Given the description of an element on the screen output the (x, y) to click on. 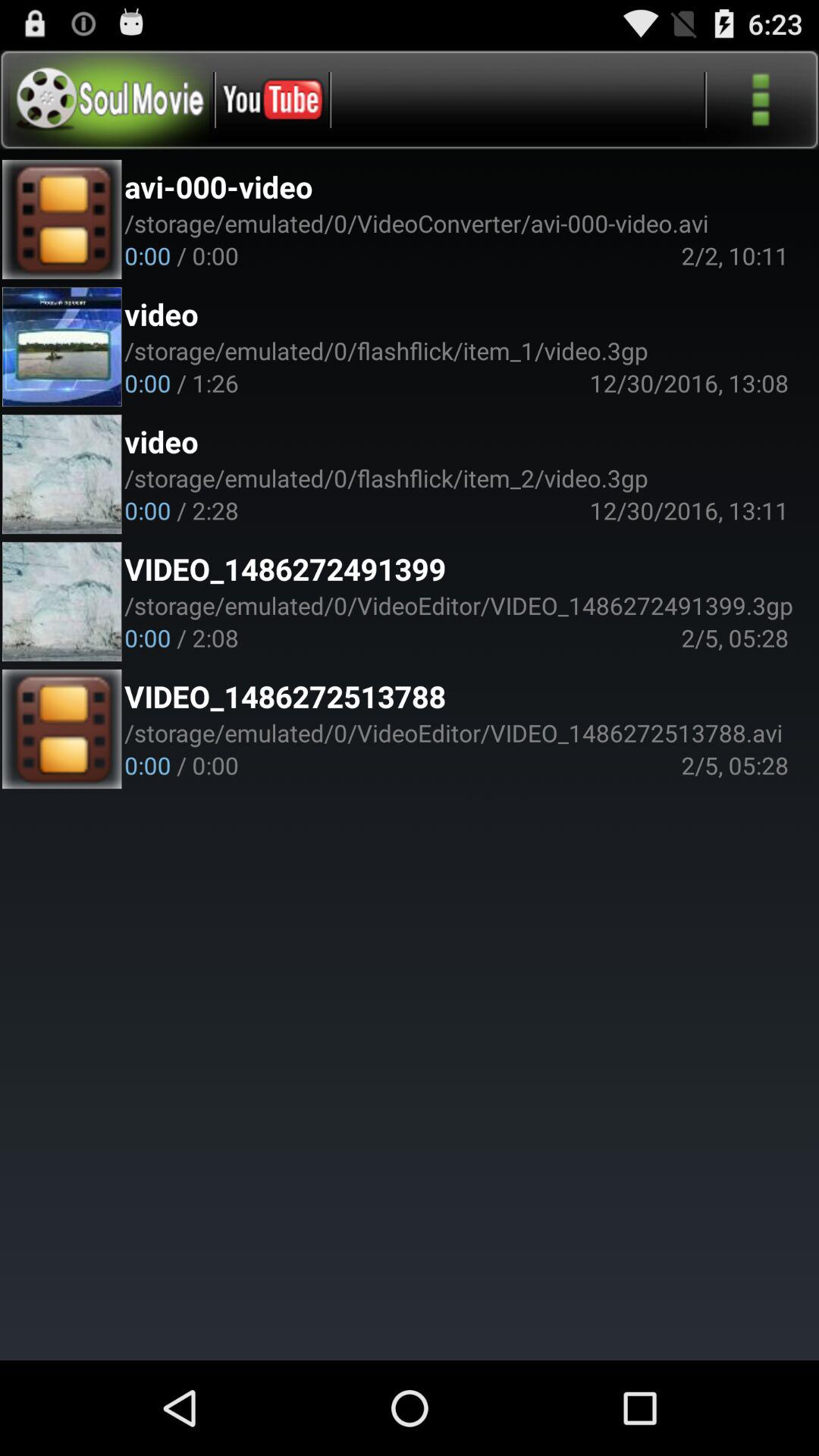
go to the third image from the top of the page (62, 474)
click the youtube logo on the web page (272, 99)
select the image from bottom left side of the web page (62, 729)
select the first image from the top left side of the web page (62, 219)
